Given the description of an element on the screen output the (x, y) to click on. 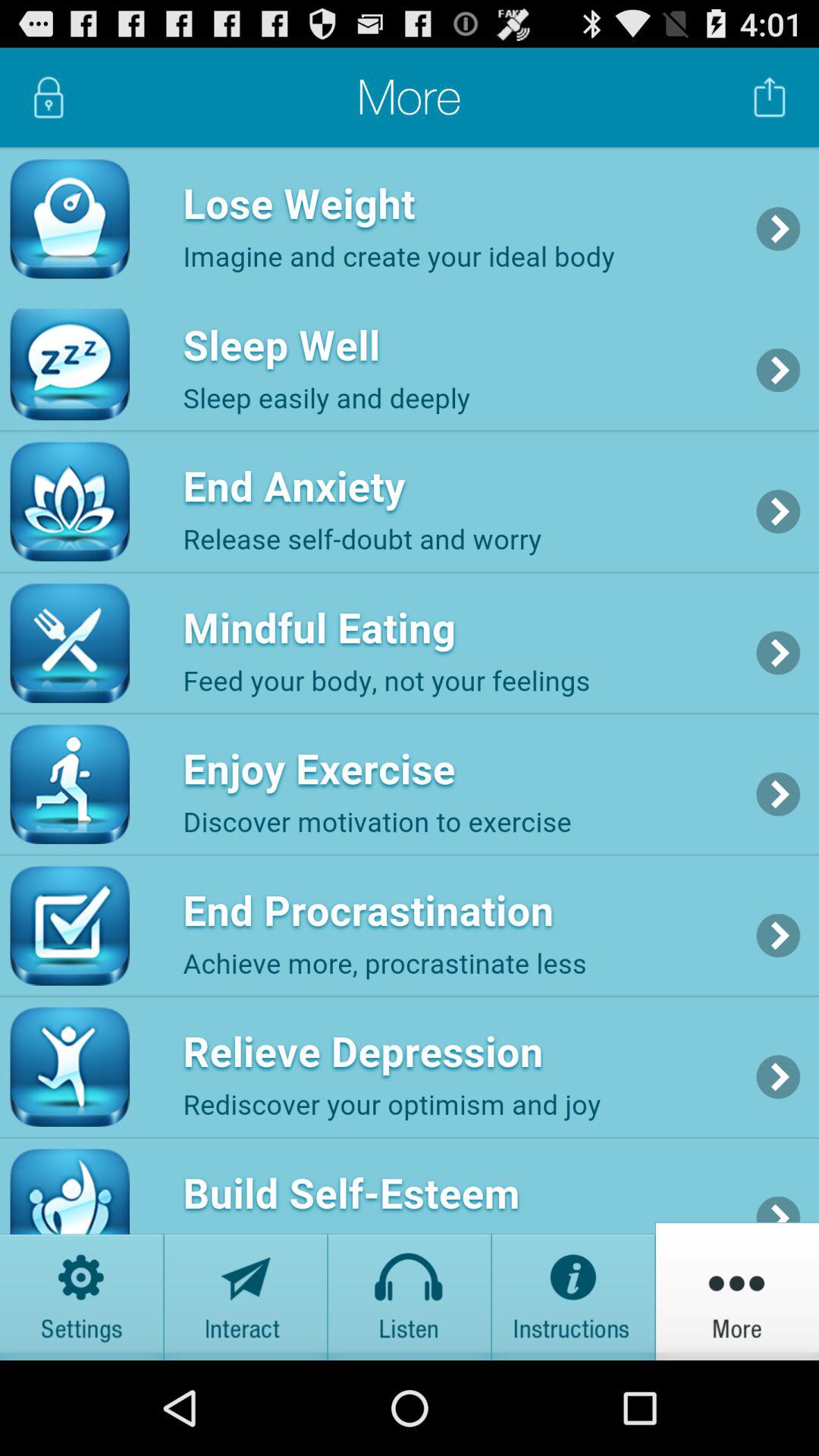
interact button (245, 1290)
